Given the description of an element on the screen output the (x, y) to click on. 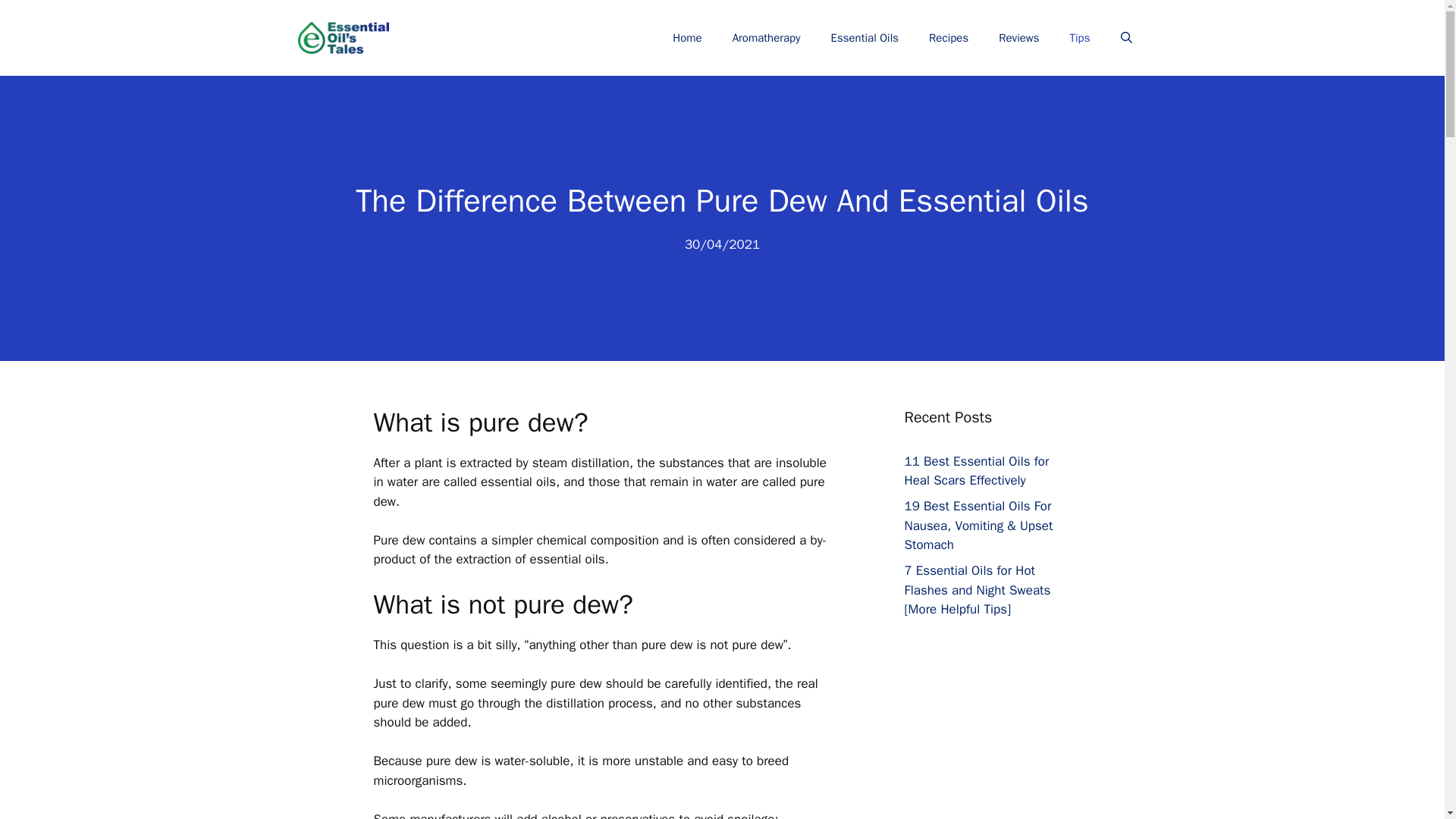
11 Best Essential Oils for Heal Scars Effectively (976, 470)
Recipes (949, 37)
Advertisement (1002, 760)
Tips (1079, 37)
Reviews (1019, 37)
Aromatherapy (766, 37)
Home (687, 37)
Essential Oils (864, 37)
